Given the description of an element on the screen output the (x, y) to click on. 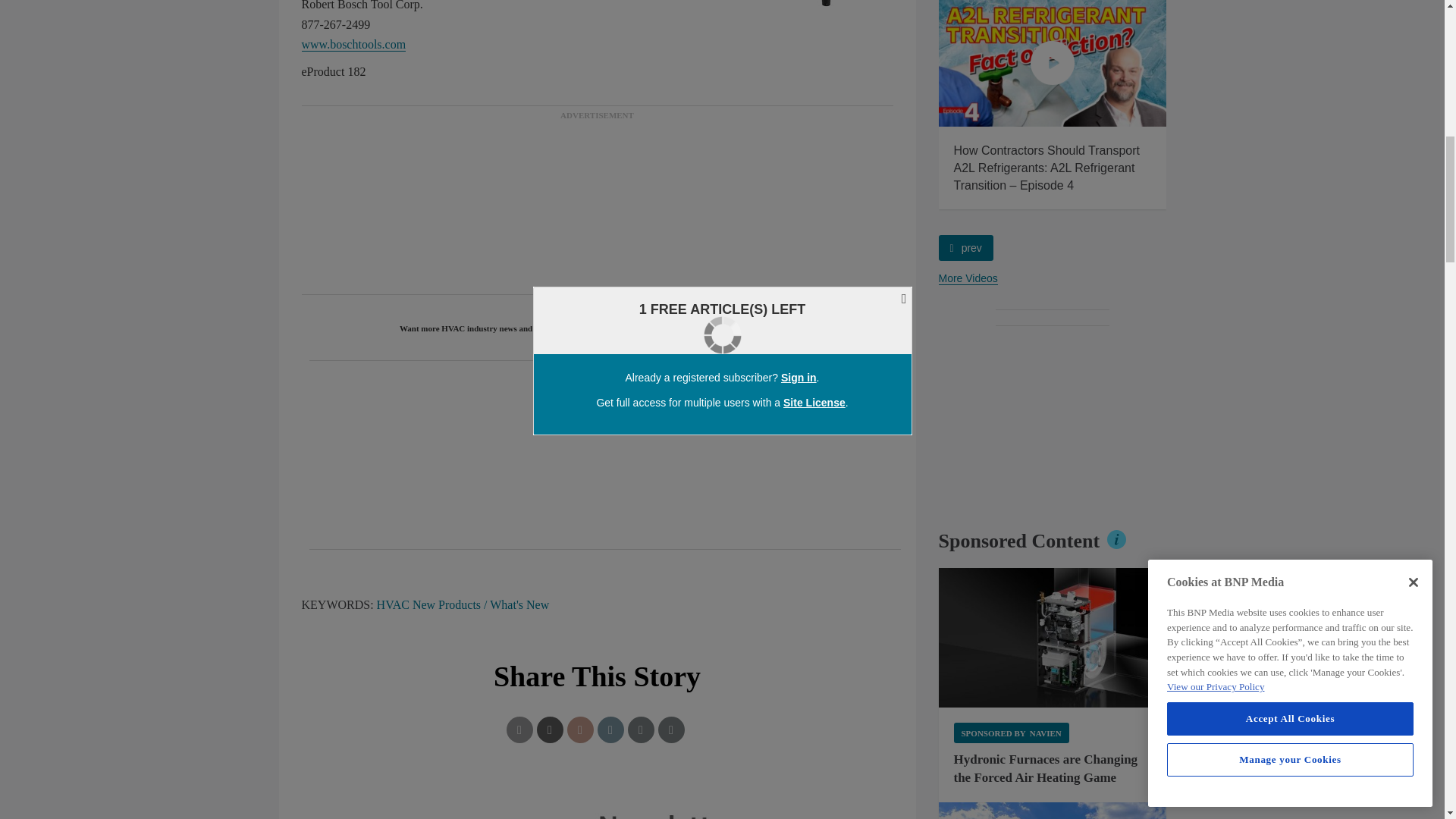
Sponsored by Navien (1010, 732)
Hydronic Forced Air Furnace Diagram (1052, 637)
Texas Frio Cold Storage (1052, 810)
Interaction questions (597, 805)
